Given the description of an element on the screen output the (x, y) to click on. 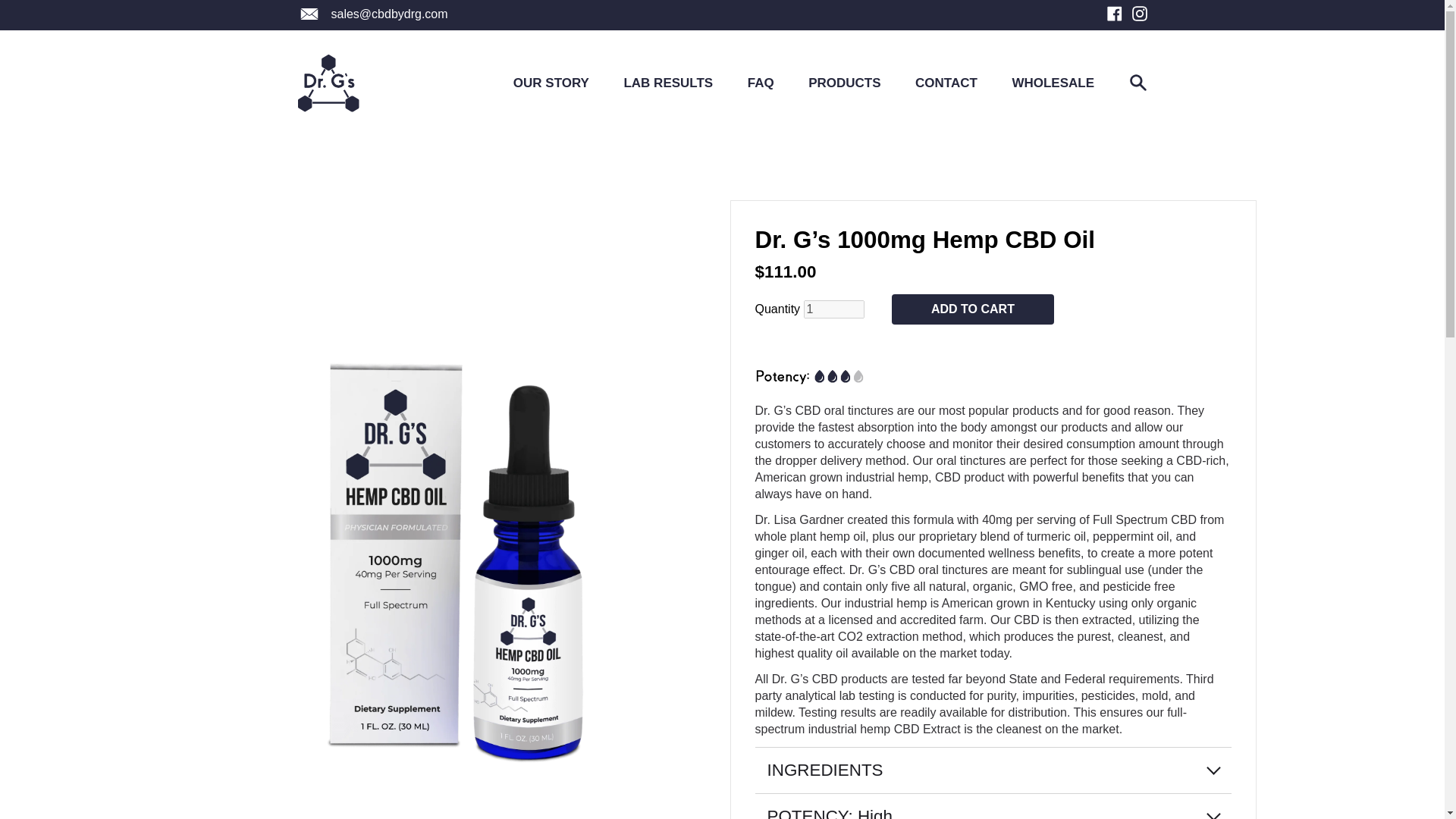
FAQ (761, 83)
CBD by Dr G's on Facebook (1115, 16)
WHOLESALE (1052, 83)
CONTACT (945, 83)
INGREDIENTS (993, 770)
1 (833, 309)
LAB RESULTS (668, 83)
OUR STORY (551, 83)
PRODUCTS (844, 83)
POTENCY: High (993, 806)
